Given the description of an element on the screen output the (x, y) to click on. 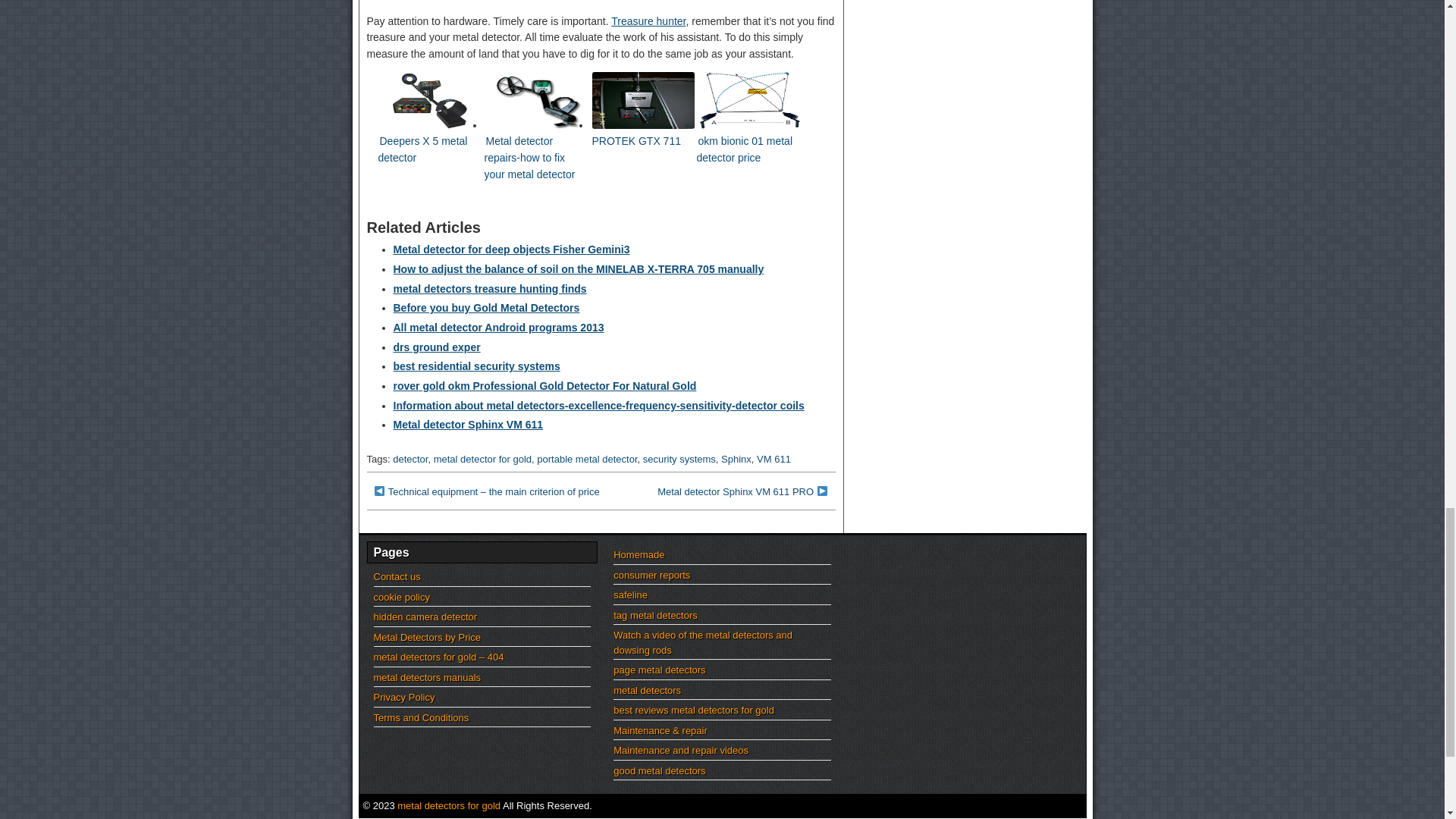
Deepers X 5 metal detector (422, 155)
Treasure hunter (648, 21)
Metal detector repairs-how to fix your metal detector (529, 162)
